Given the description of an element on the screen output the (x, y) to click on. 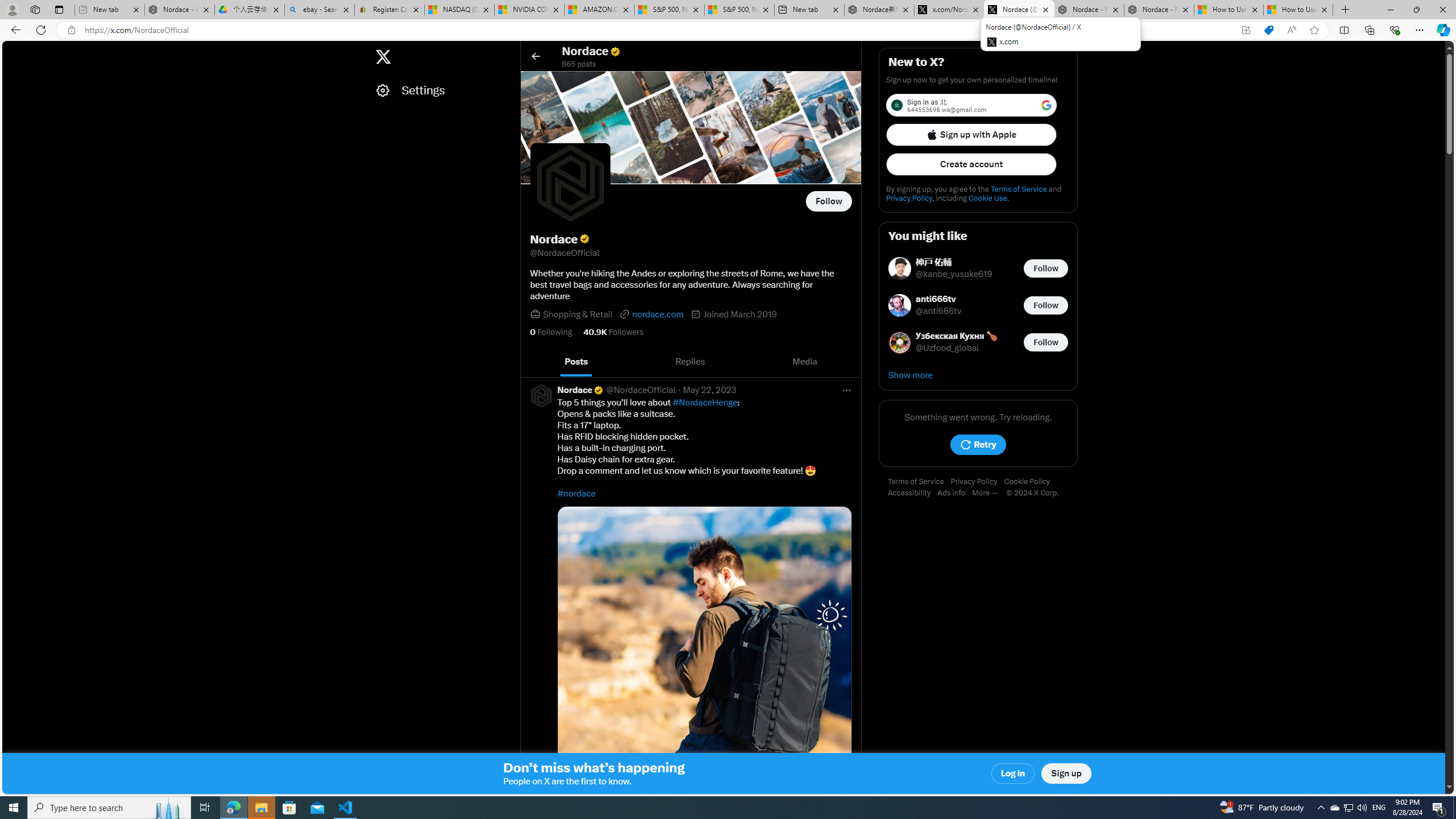
Follow @NordaceOfficial (828, 201)
@NordaceOfficial (640, 389)
Square profile picture (541, 395)
Posts (576, 361)
Nordace (@NordaceOfficial) / X (1018, 9)
Follow @anti666tv (1045, 304)
Register: Create a personal eBay account (389, 9)
Replies (689, 361)
Verified account (598, 389)
